Given the description of an element on the screen output the (x, y) to click on. 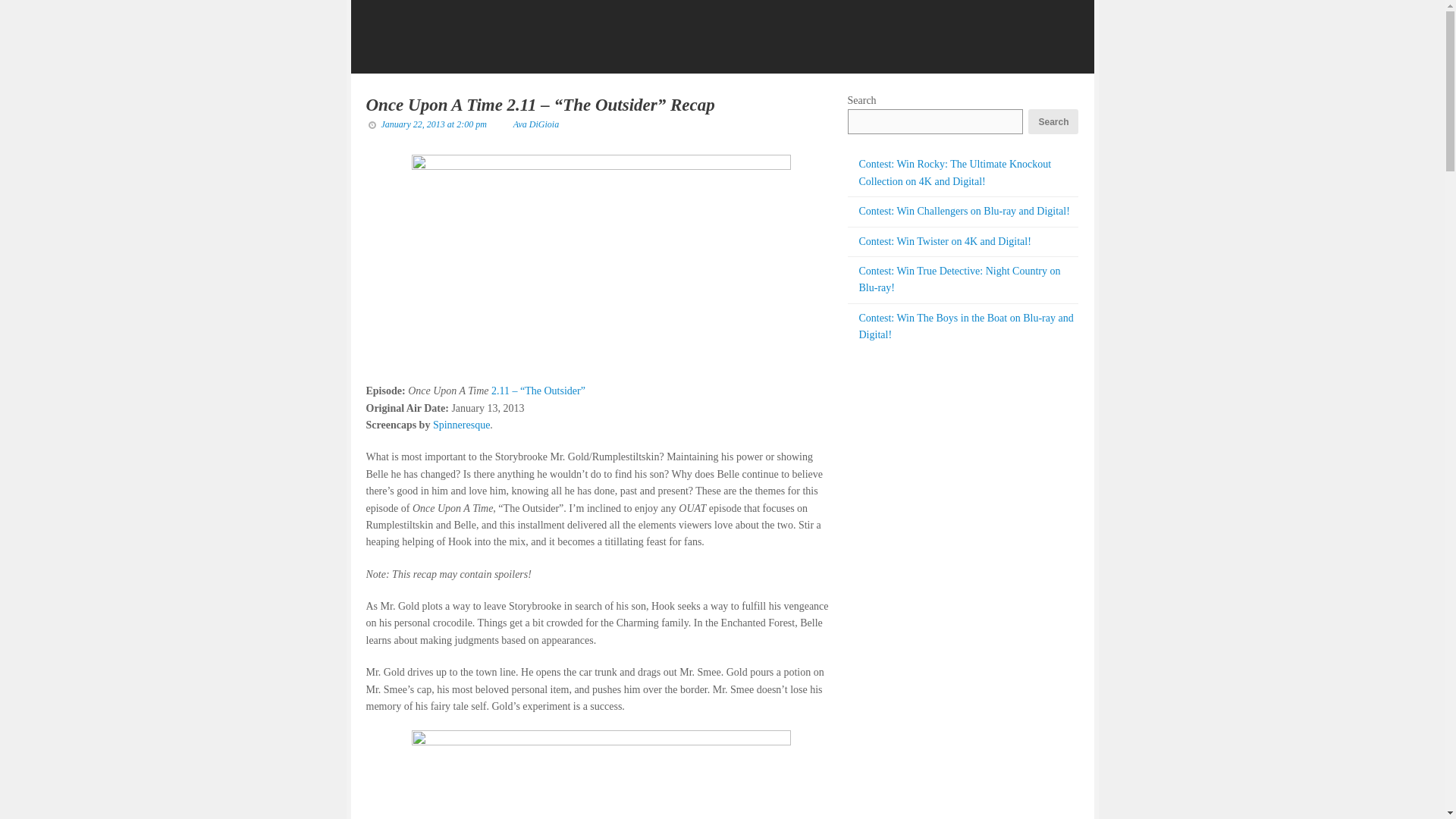
Search (1052, 121)
once211-4 (600, 774)
Spinneresque (460, 424)
January 22, 2013 at 2:00 pm (433, 123)
Ava DiGioia (536, 123)
Posts by Ava DiGioia (536, 123)
once211-1 (600, 260)
